Given the description of an element on the screen output the (x, y) to click on. 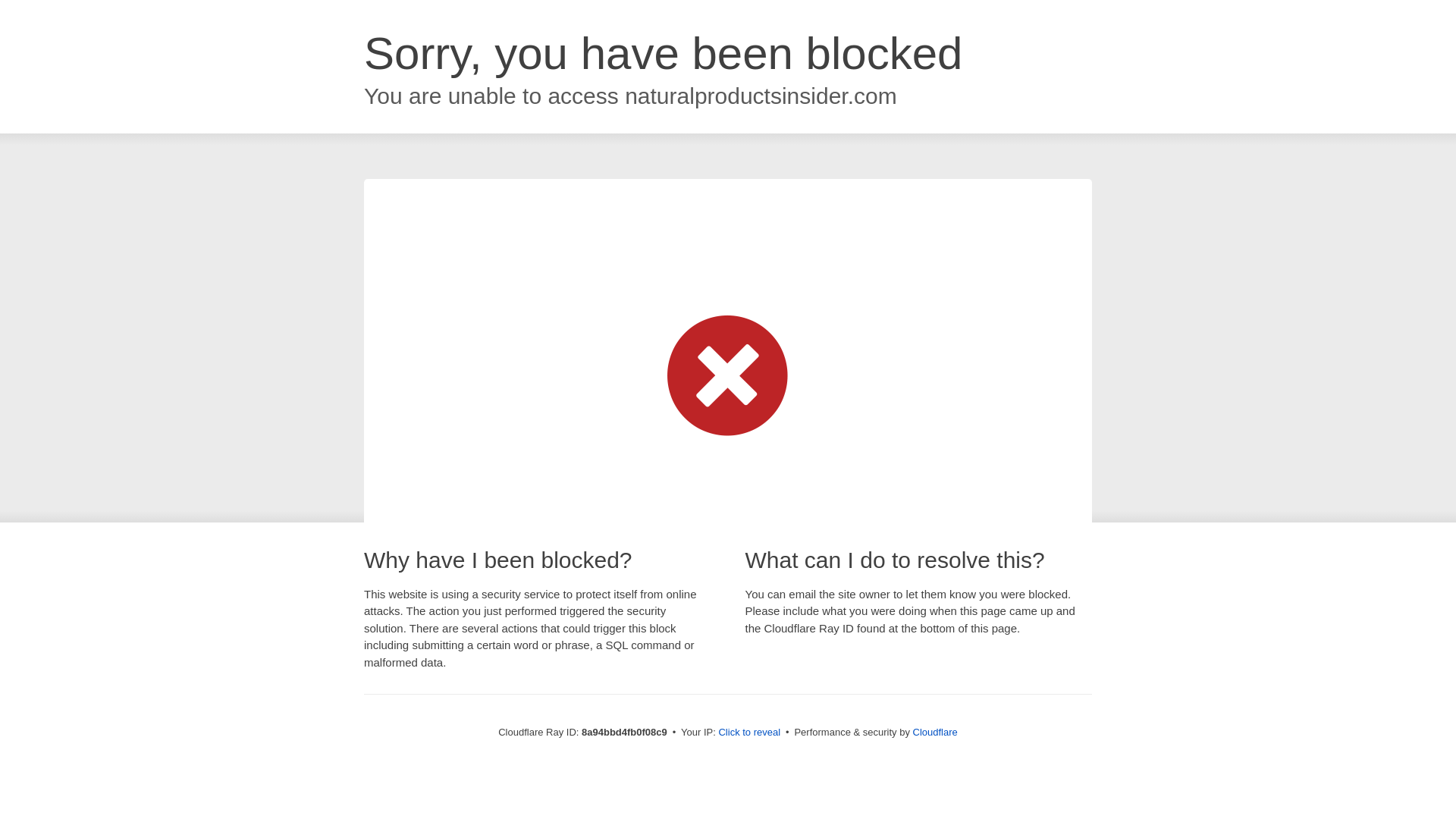
Cloudflare (935, 731)
Click to reveal (748, 732)
